Given the description of an element on the screen output the (x, y) to click on. 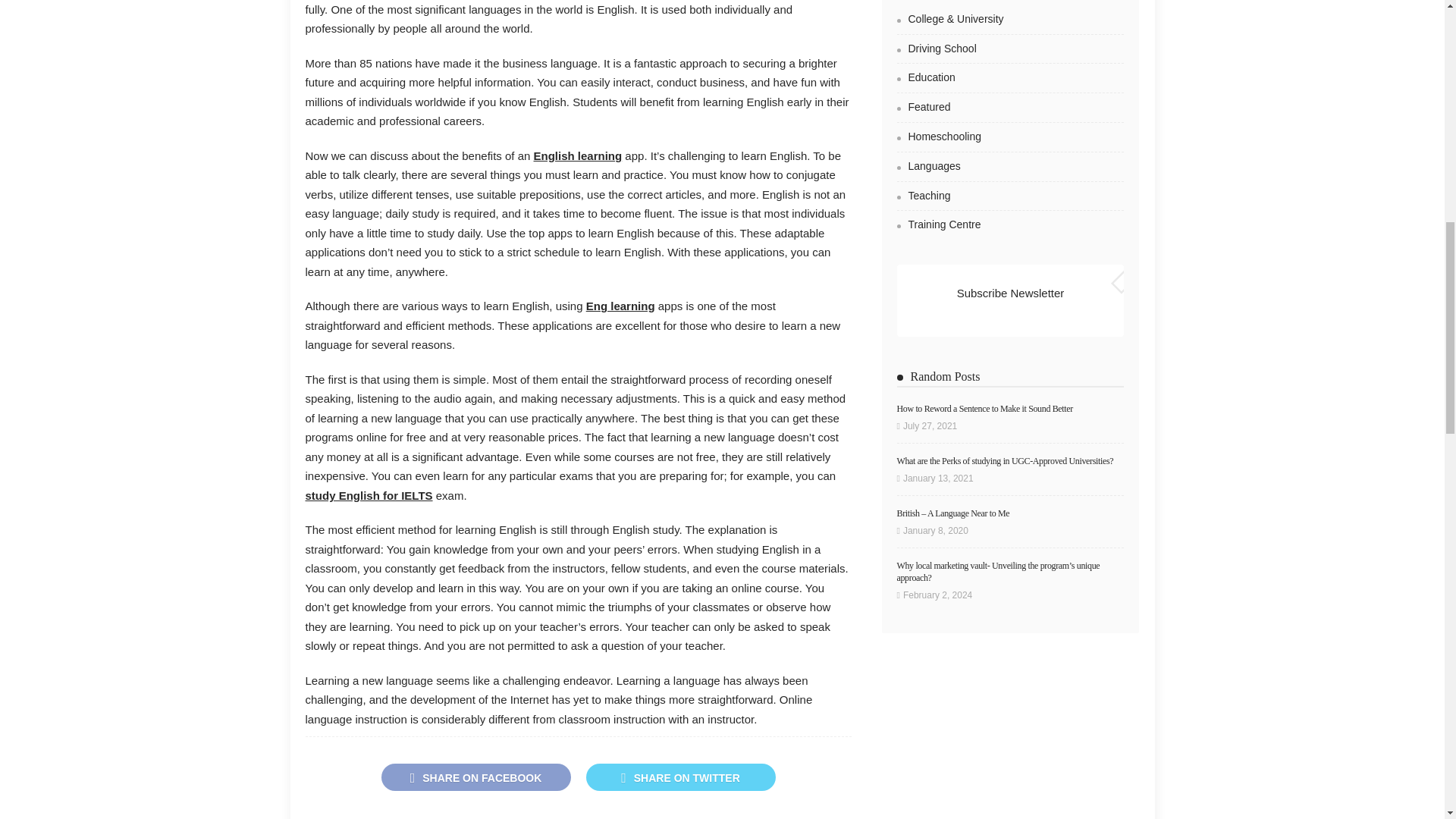
English learning (578, 155)
study English for IELTS (368, 495)
SHARE ON FACEBOOK (475, 776)
Eng learning (620, 305)
SHARE ON TWITTER (679, 776)
